Given the description of an element on the screen output the (x, y) to click on. 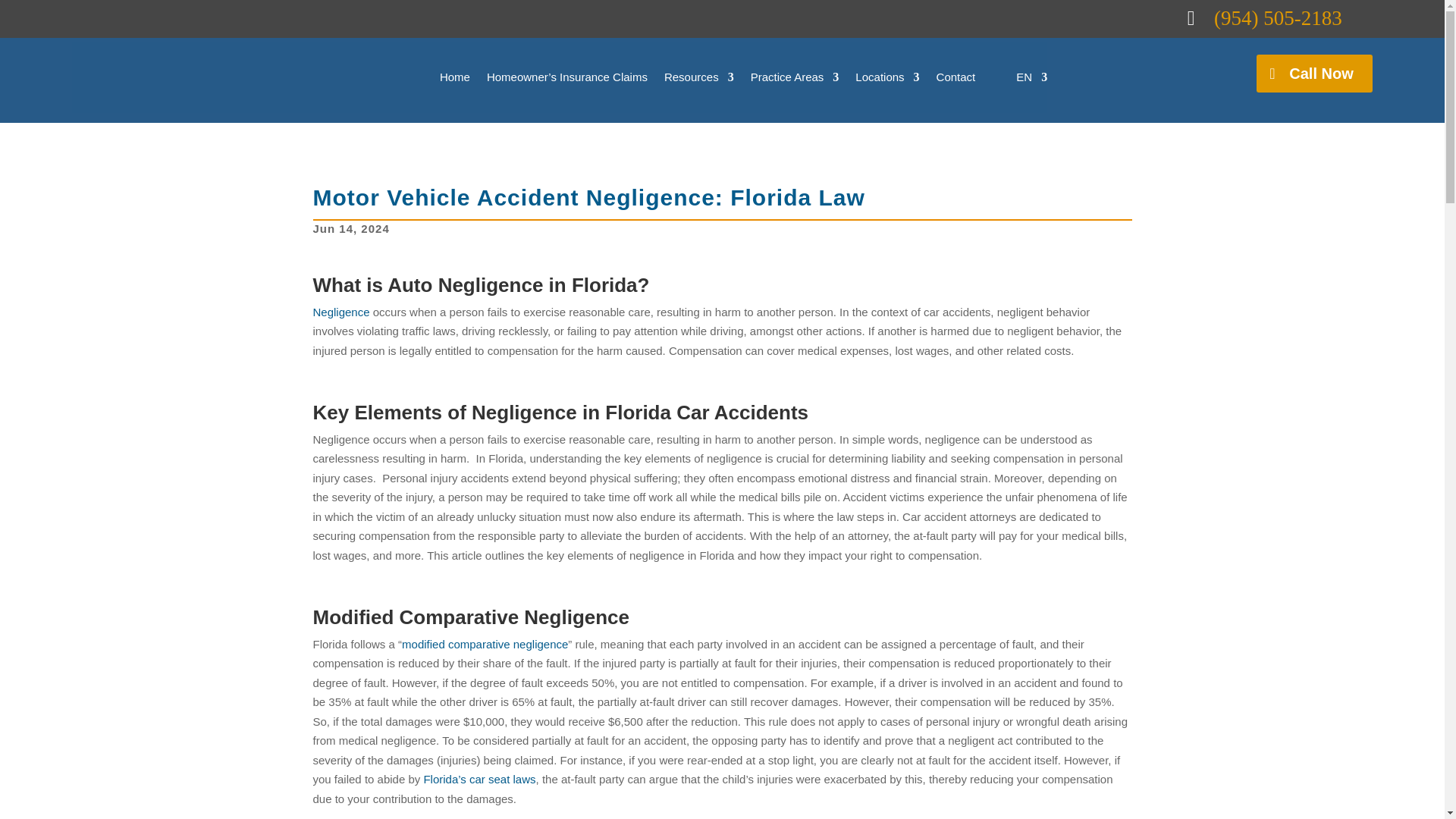
Locations (887, 77)
Home (454, 77)
Resources (698, 77)
Practice Areas (795, 77)
